Given the description of an element on the screen output the (x, y) to click on. 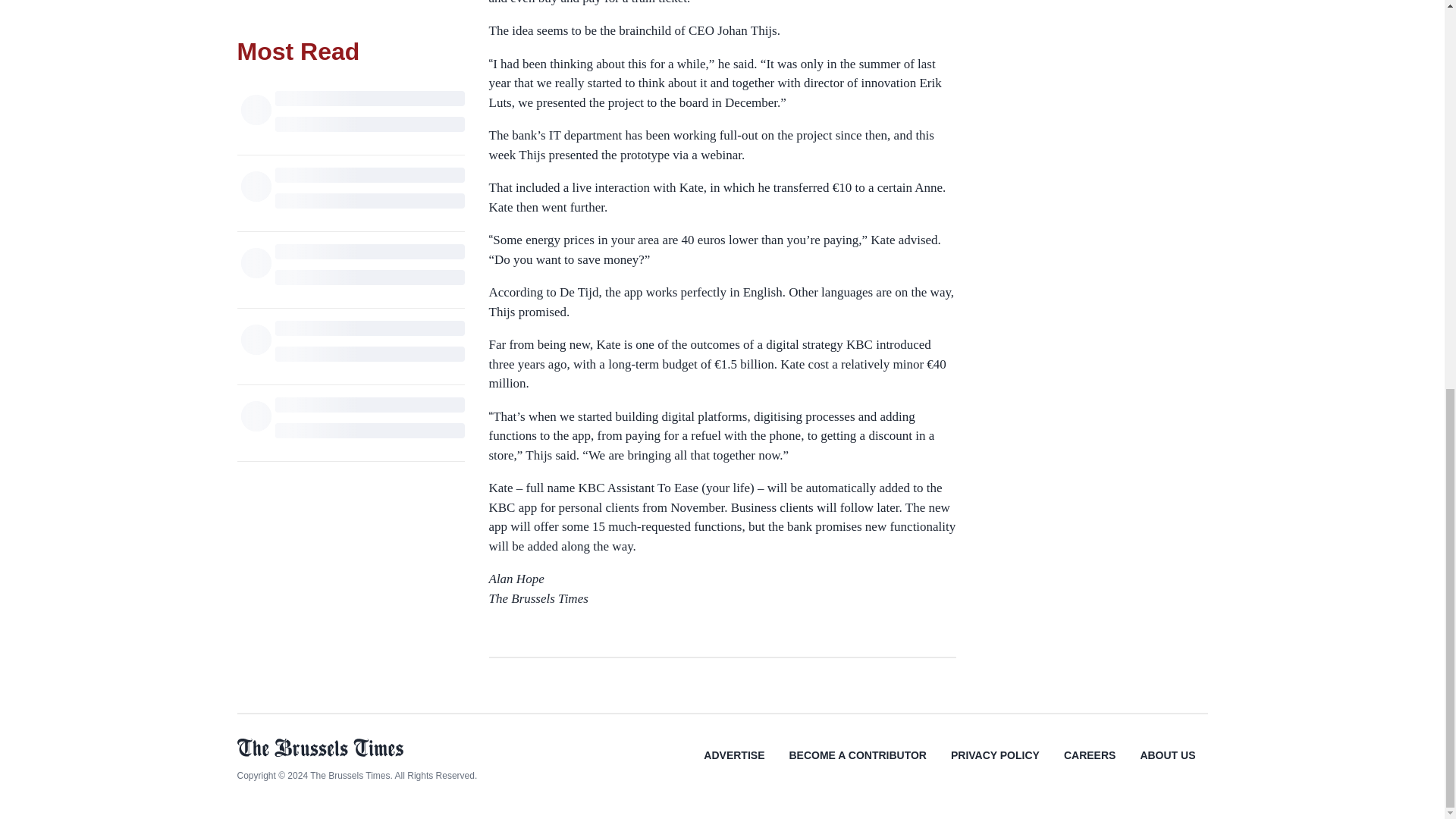
BECOME A CONTRIBUTOR (856, 766)
ABOUT US (1166, 766)
ADVERTISE (733, 766)
CAREERS (1088, 766)
PRIVACY POLICY (995, 766)
